Given the description of an element on the screen output the (x, y) to click on. 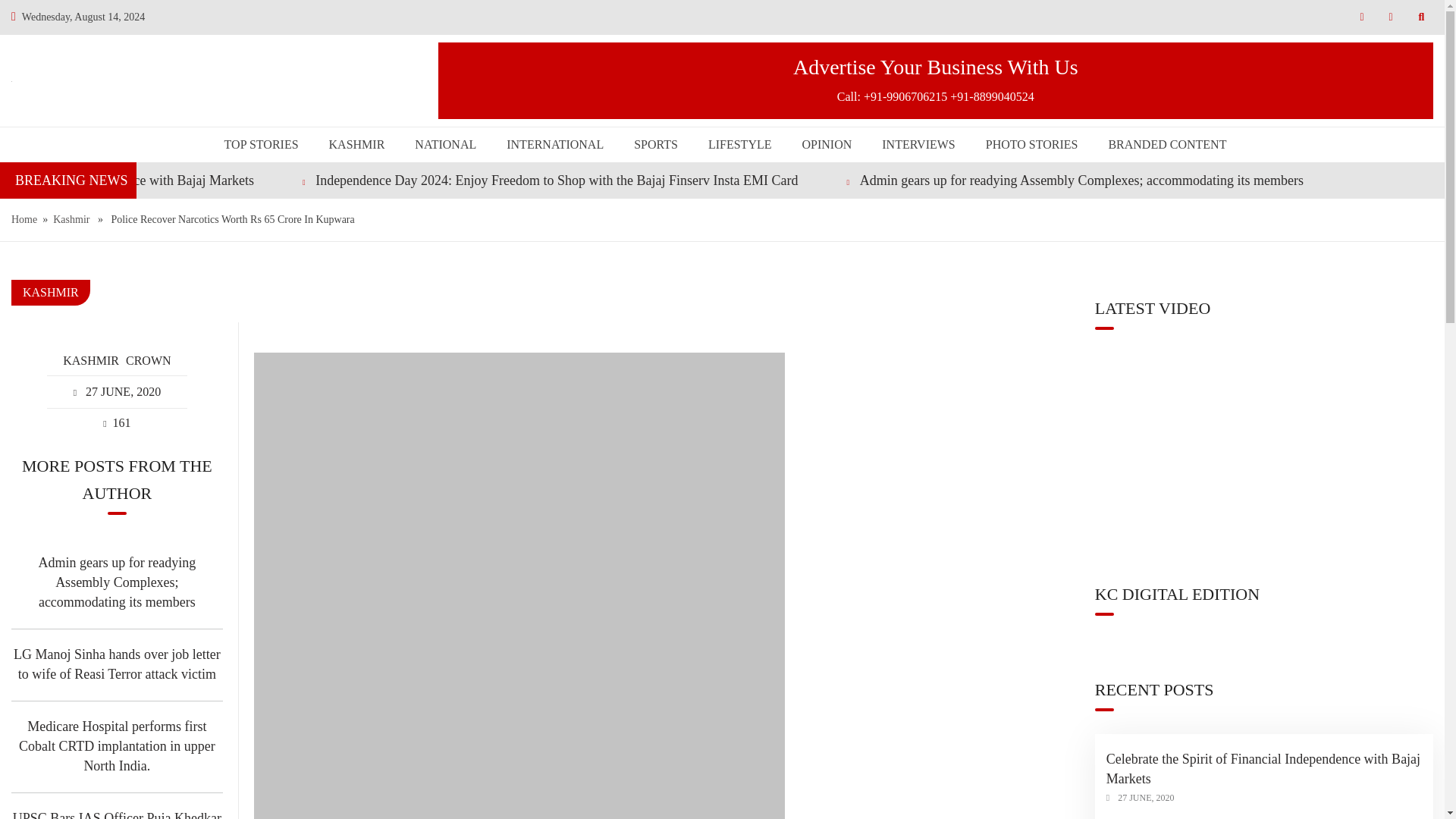
Lifestyle (739, 144)
INTERNATIONAL (555, 144)
Kashmir (70, 219)
Home (24, 219)
Branded Content (1163, 144)
NATIONAL (445, 144)
